Given the description of an element on the screen output the (x, y) to click on. 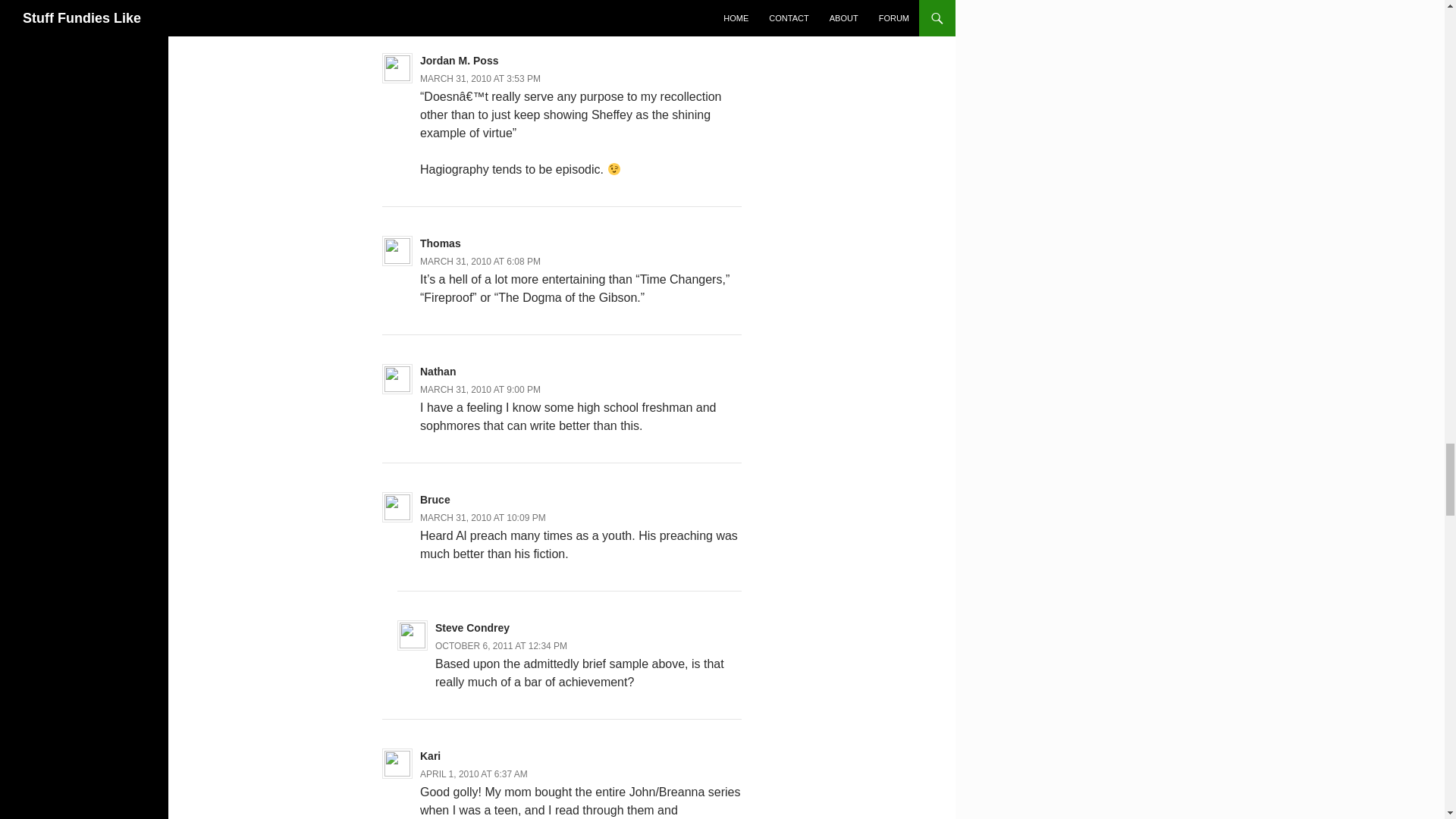
Thomas (440, 243)
Jordan M. Poss (458, 60)
MARCH 31, 2010 AT 3:53 PM (480, 78)
